Given the description of an element on the screen output the (x, y) to click on. 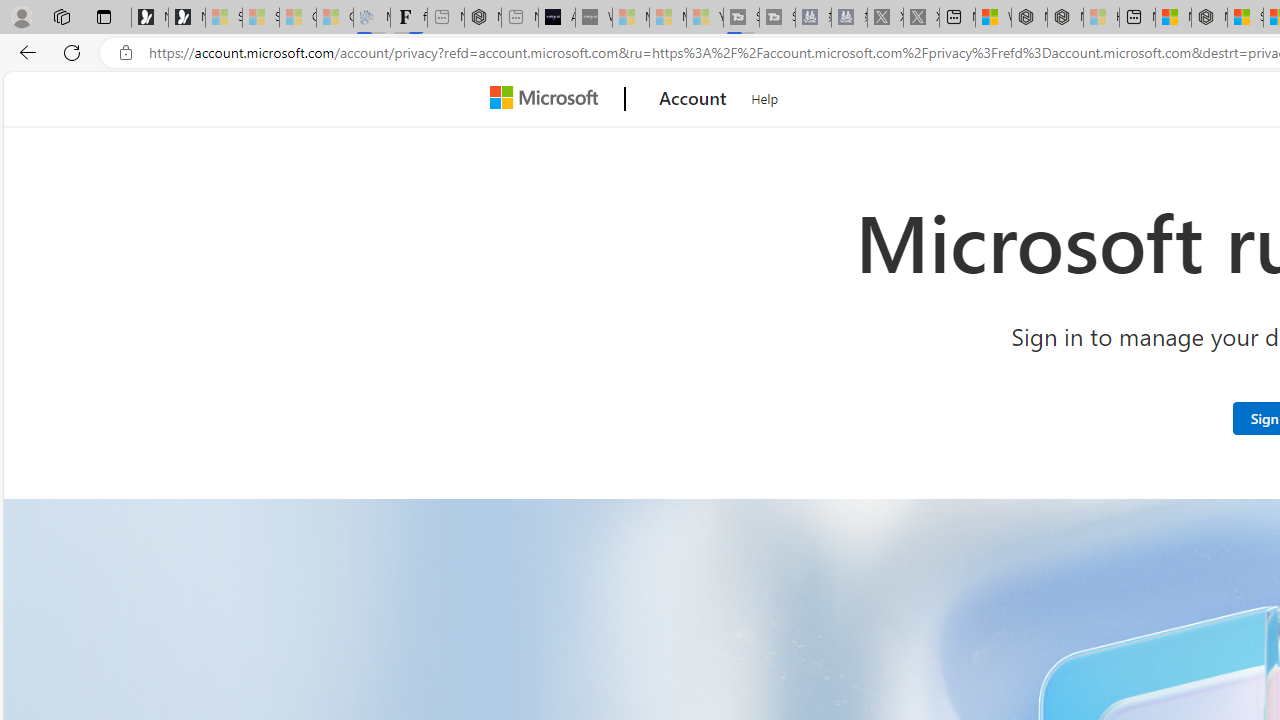
Nordace - #1 Japanese Best-Seller - Siena Smart Backpack (482, 17)
X - Sleeping (921, 17)
Streaming Coverage | T3 - Sleeping (741, 17)
Nordace - Summer Adventures 2024 (1065, 17)
What's the best AI voice generator? - voice.ai - Sleeping (593, 17)
AI Voice Changer for PC and Mac - Voice.ai (556, 17)
Help (765, 96)
